Given the description of an element on the screen output the (x, y) to click on. 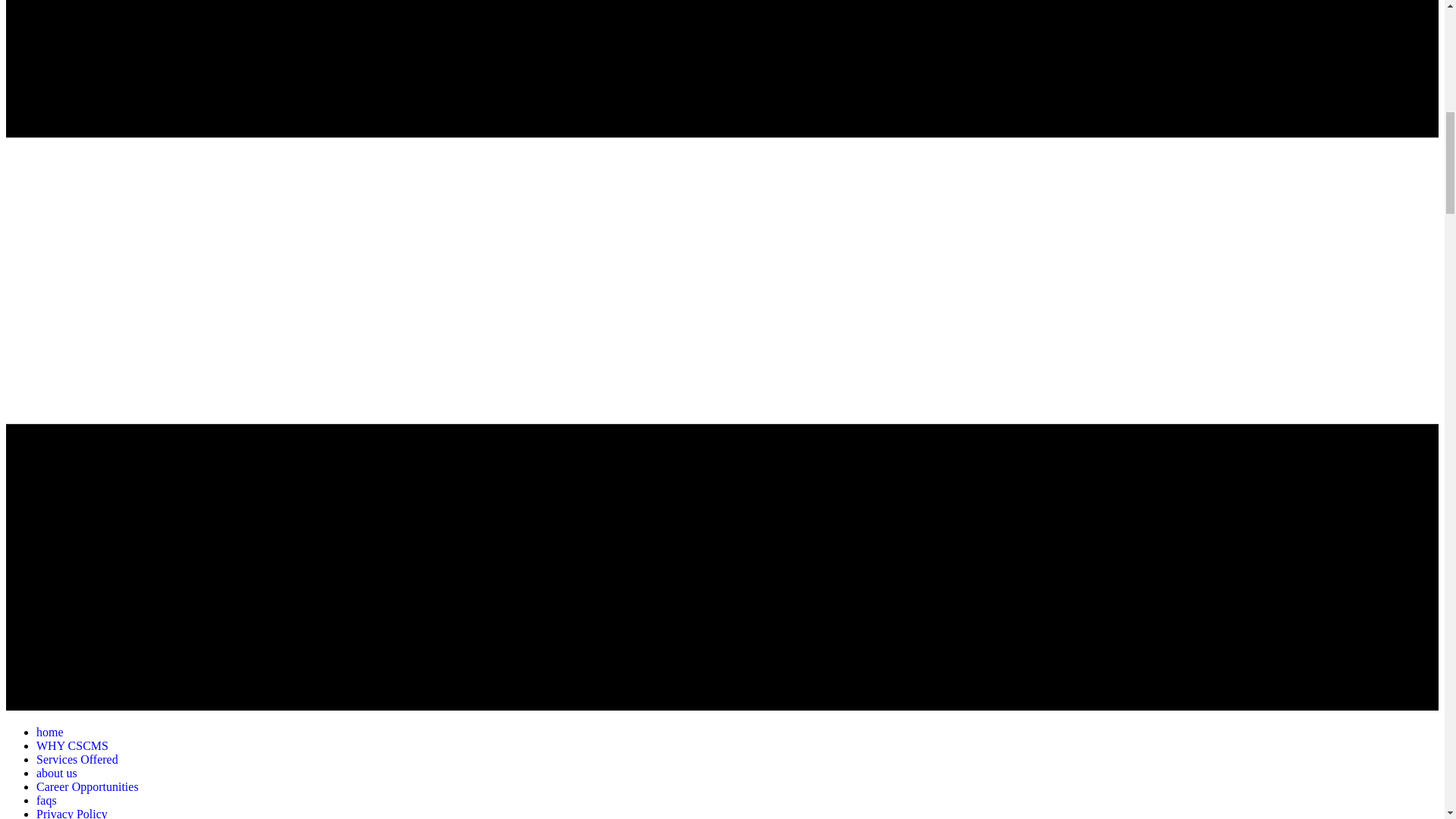
Career Opportunities (87, 786)
home (50, 731)
Services Offered (76, 758)
faqs (46, 799)
WHY CSCMS (71, 745)
Privacy Policy (71, 813)
about us (56, 772)
